Given the description of an element on the screen output the (x, y) to click on. 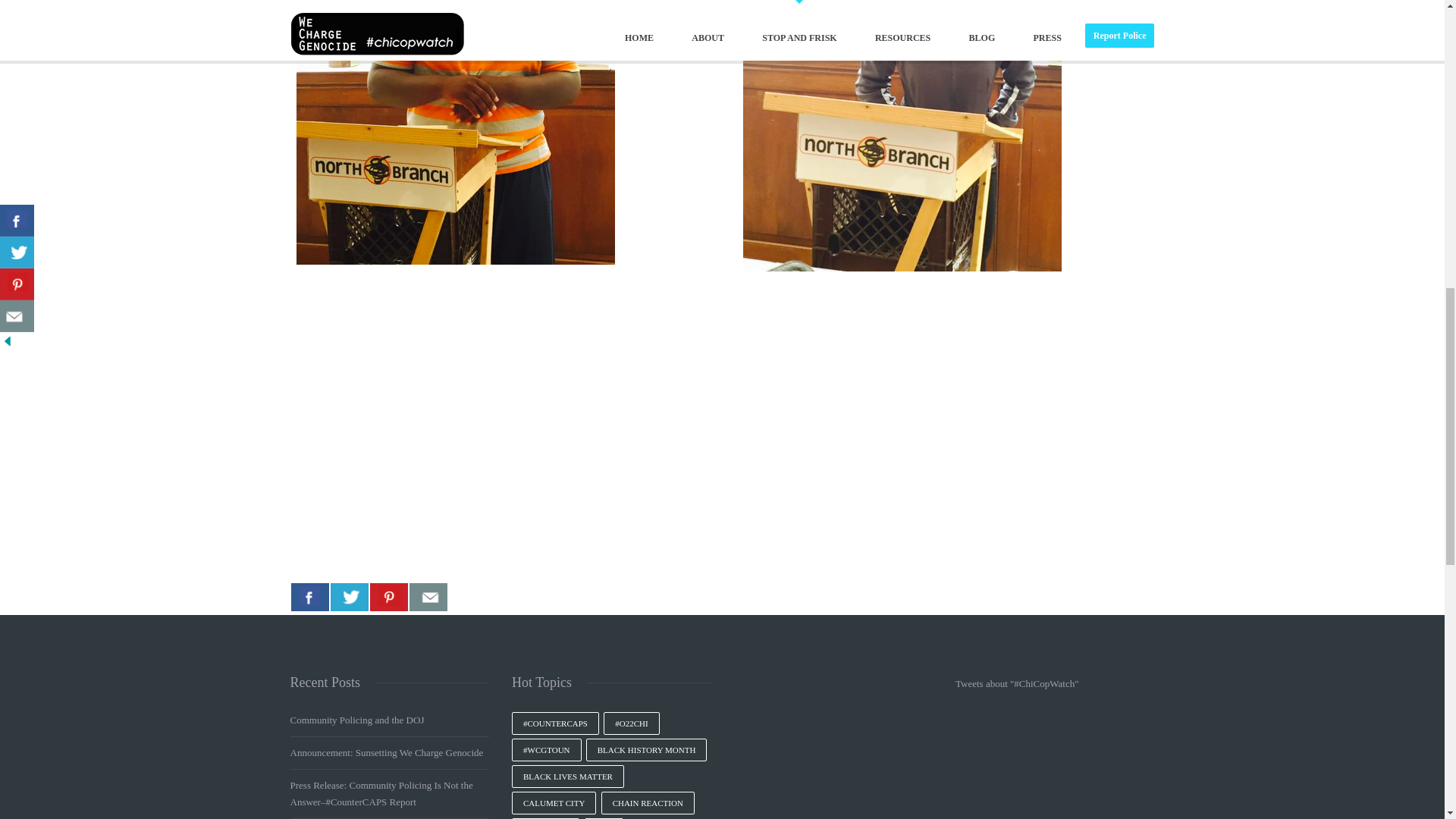
Share On Pinterest (388, 596)
Share On Twitter (349, 596)
Contact us (427, 596)
Share On Facebook (310, 596)
